Given the description of an element on the screen output the (x, y) to click on. 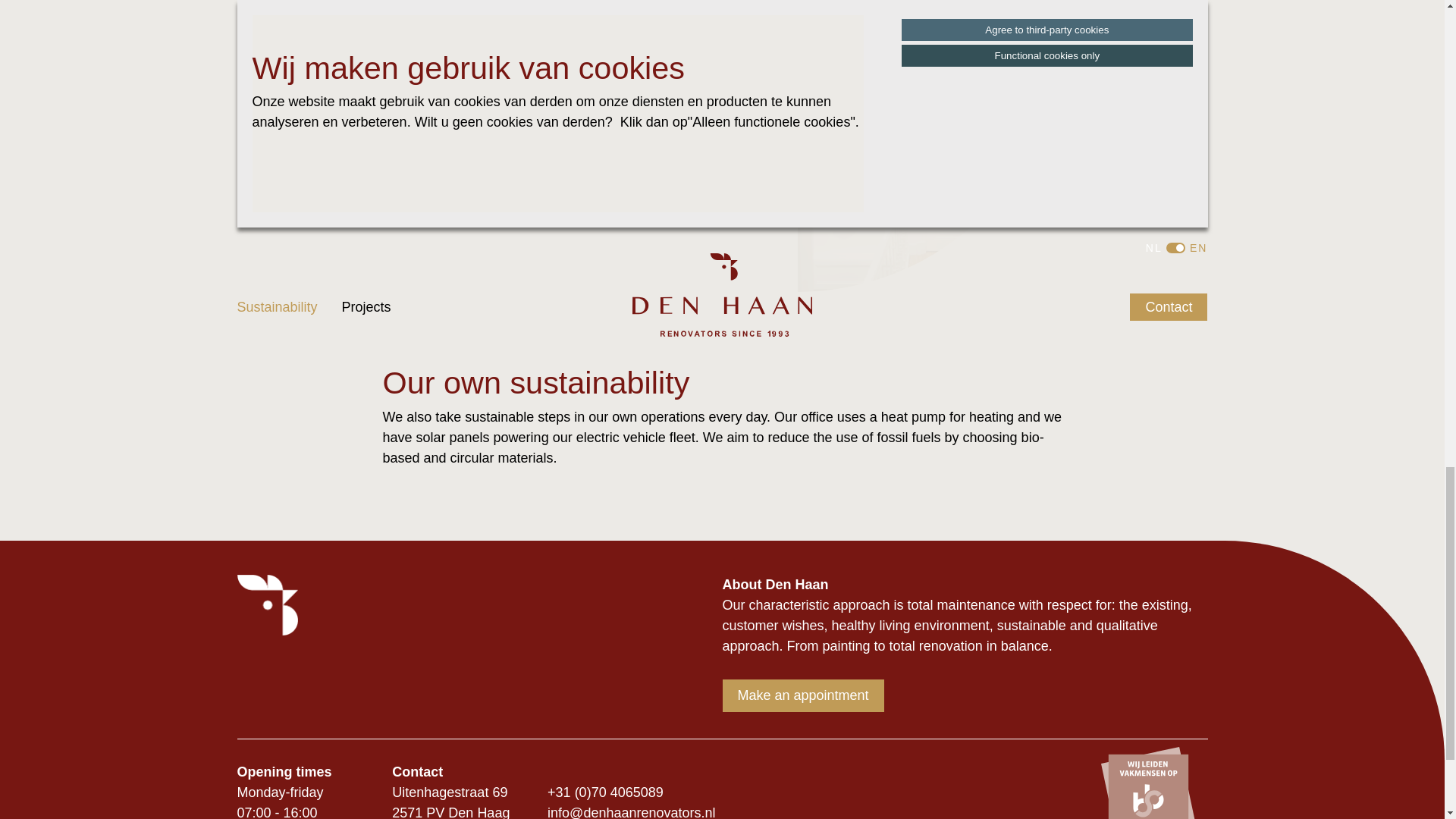
Make an appointment (802, 695)
Renovation of staircase (929, 146)
